Given the description of an element on the screen output the (x, y) to click on. 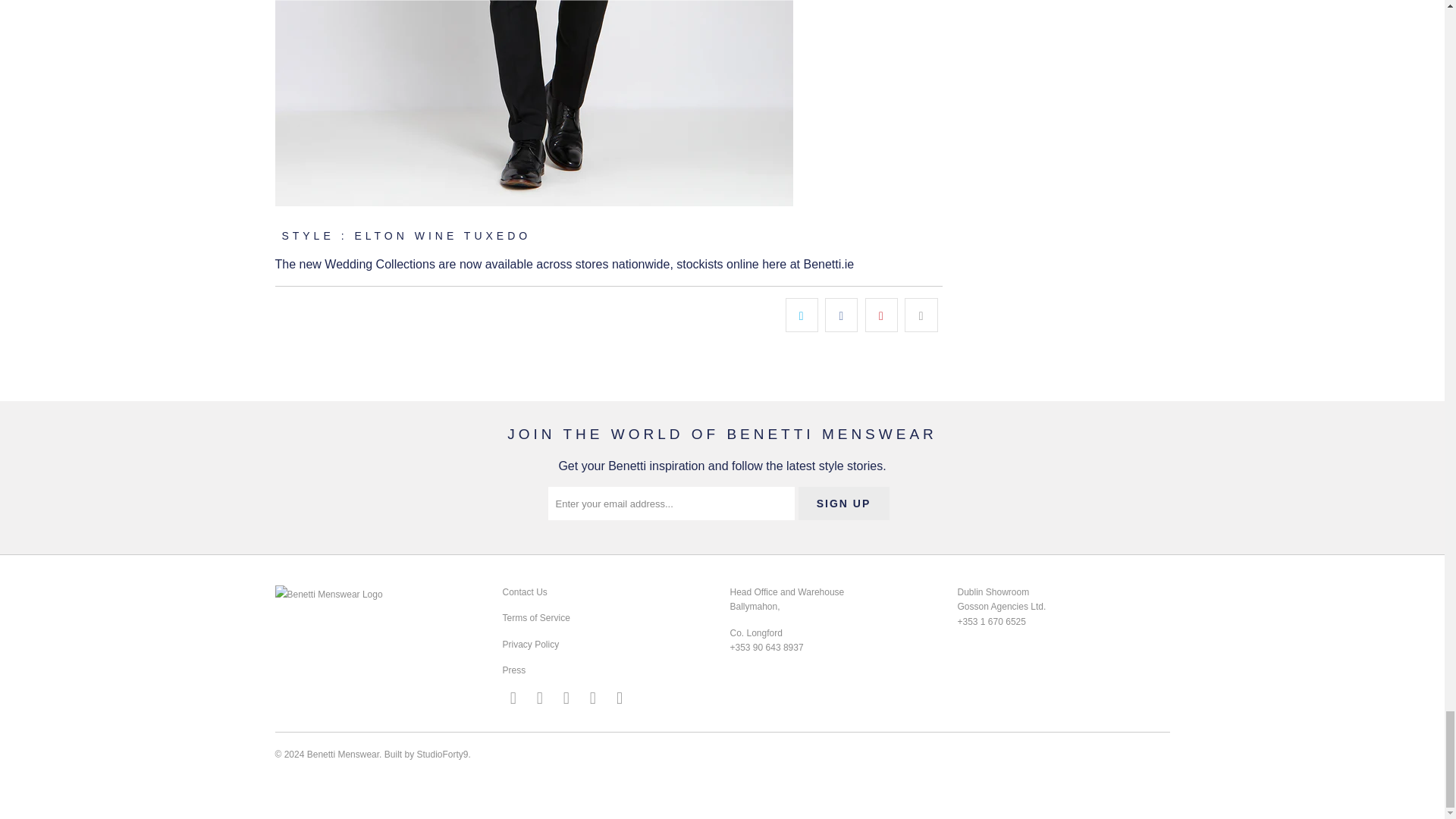
Sign Up (842, 503)
Email this to a friend (920, 315)
Share this on Pinterest (881, 315)
Share this on Facebook (841, 315)
Share this on Twitter (802, 315)
